Given the description of an element on the screen output the (x, y) to click on. 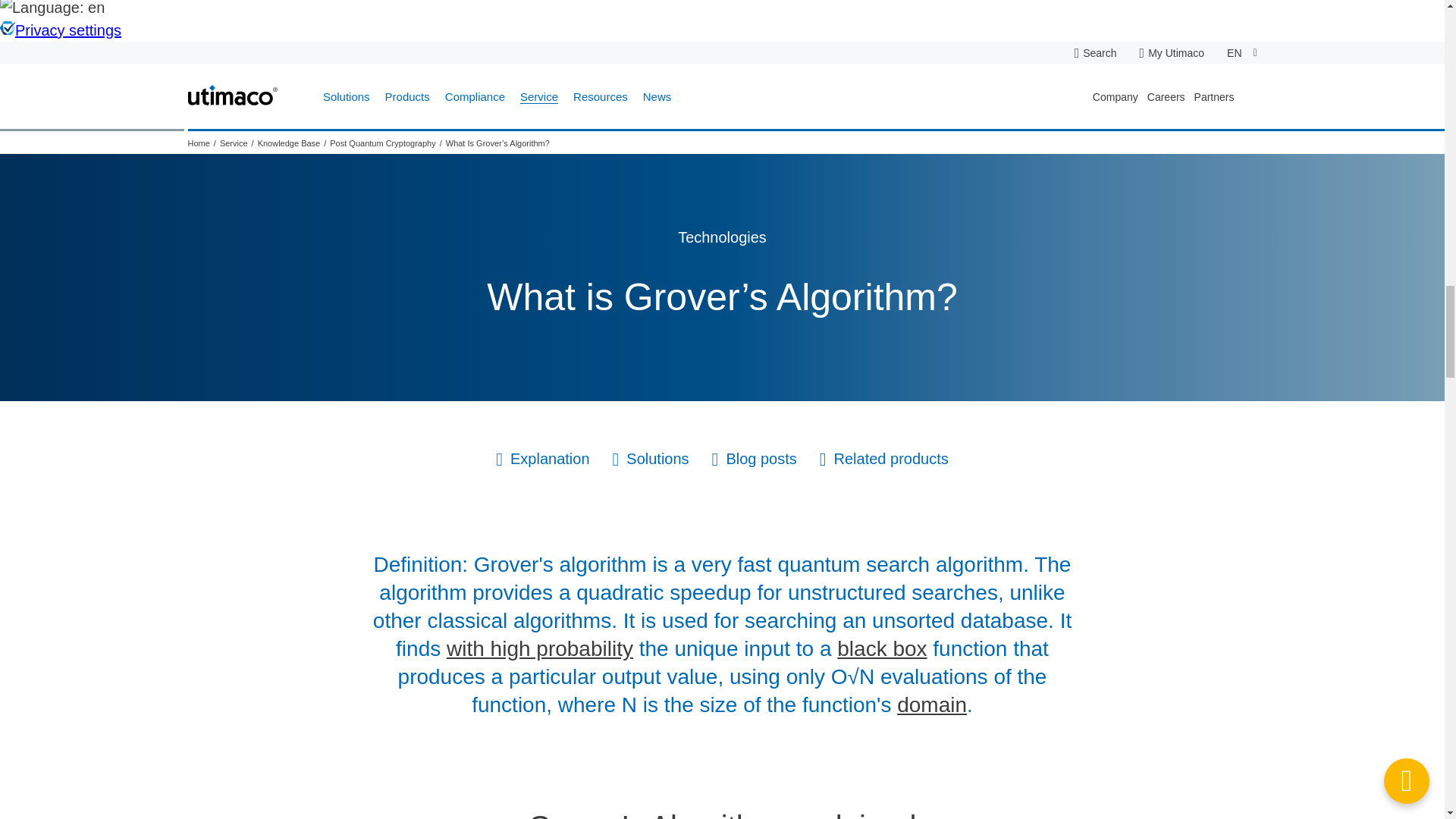
My Utimaco (1172, 52)
Search (1099, 52)
EN (1241, 52)
My Utimaco (1172, 52)
Solutions (346, 97)
Search (1099, 52)
